Given the description of an element on the screen output the (x, y) to click on. 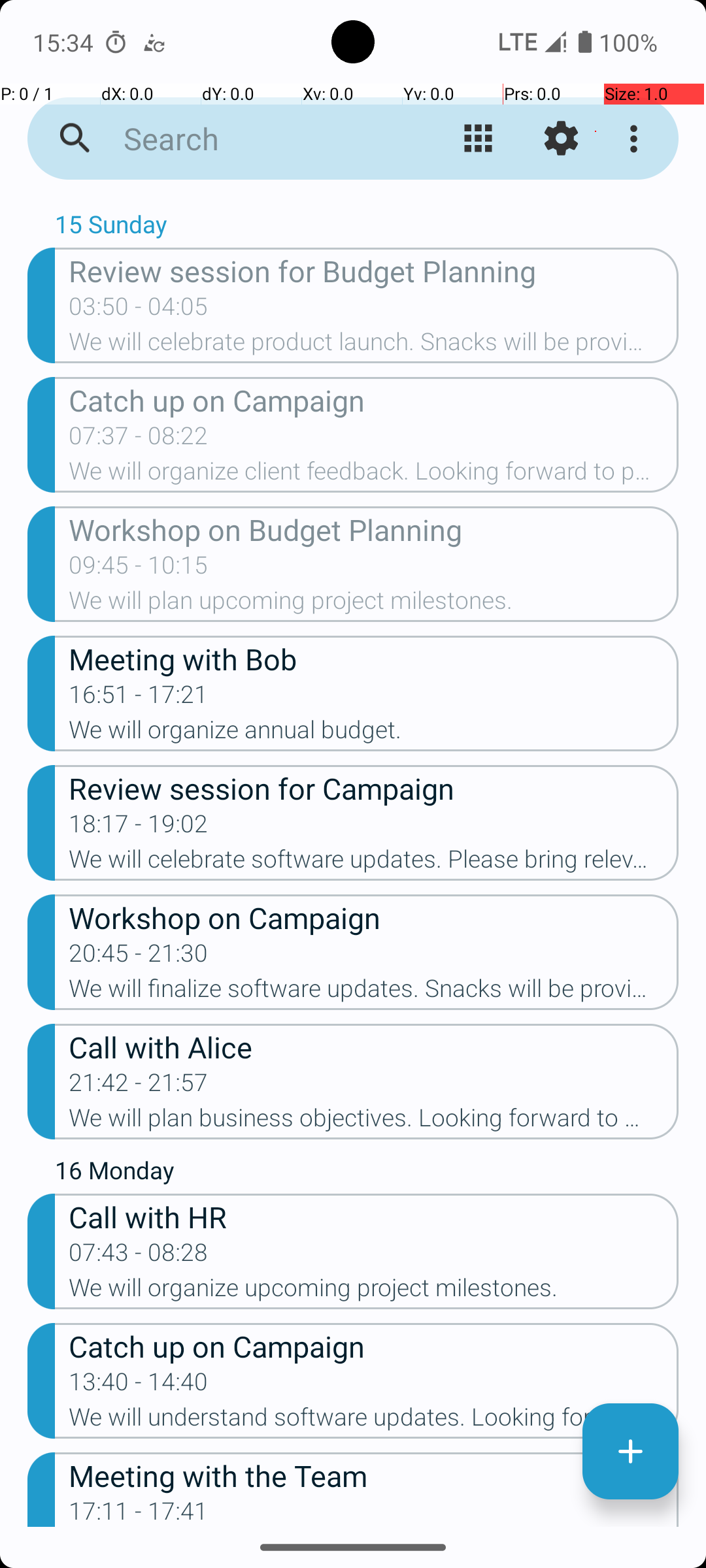
03:50 - 04:05 Element type: android.widget.TextView (137, 309)
We will celebrate product launch. Snacks will be provided. Element type: android.widget.TextView (373, 345)
Catch up on Campaign Element type: android.widget.TextView (373, 399)
07:37 - 08:22 Element type: android.widget.TextView (137, 439)
We will organize client feedback. Looking forward to productive discussions. Element type: android.widget.TextView (373, 474)
Workshop on Budget Planning Element type: android.widget.TextView (373, 528)
09:45 - 10:15 Element type: android.widget.TextView (137, 568)
We will plan upcoming project milestones. Element type: android.widget.TextView (373, 603)
16:51 - 17:21 Element type: android.widget.TextView (137, 698)
We will organize annual budget. Element type: android.widget.TextView (373, 733)
18:17 - 19:02 Element type: android.widget.TextView (137, 827)
We will celebrate software updates. Please bring relevant documents. Element type: android.widget.TextView (373, 862)
20:45 - 21:30 Element type: android.widget.TextView (137, 956)
We will finalize software updates. Snacks will be provided. Element type: android.widget.TextView (373, 992)
Call with Alice Element type: android.widget.TextView (373, 1045)
21:42 - 21:57 Element type: android.widget.TextView (137, 1086)
We will plan business objectives. Looking forward to productive discussions. Element type: android.widget.TextView (373, 1121)
07:43 - 08:28 Element type: android.widget.TextView (137, 1256)
We will organize upcoming project milestones. Element type: android.widget.TextView (373, 1291)
13:40 - 14:40 Element type: android.widget.TextView (137, 1385)
We will understand software updates. Looking forward to productive discussions. Element type: android.widget.TextView (373, 1420)
Meeting with the Team Element type: android.widget.TextView (373, 1474)
17:11 - 17:41 Element type: android.widget.TextView (137, 1511)
